Given the description of an element on the screen output the (x, y) to click on. 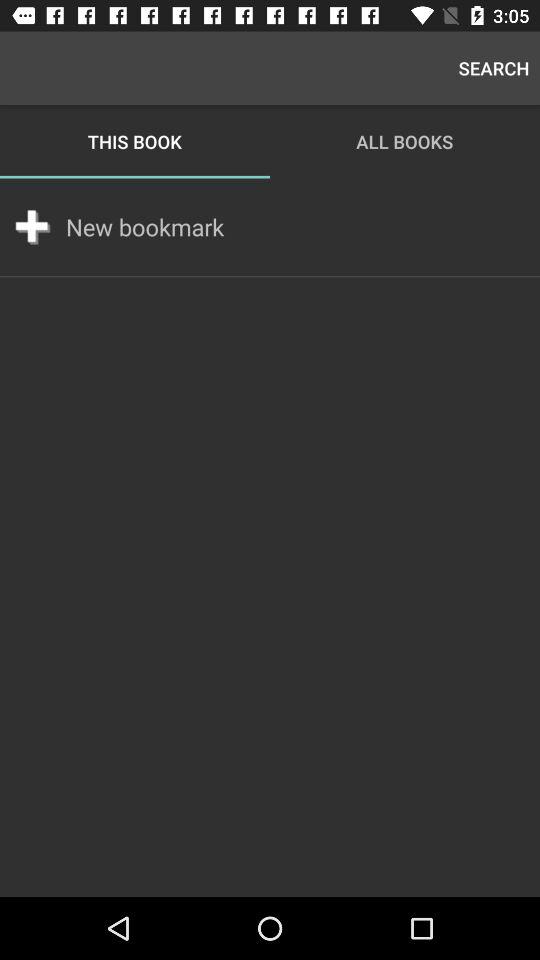
launch icon below this book item (145, 227)
